Given the description of an element on the screen output the (x, y) to click on. 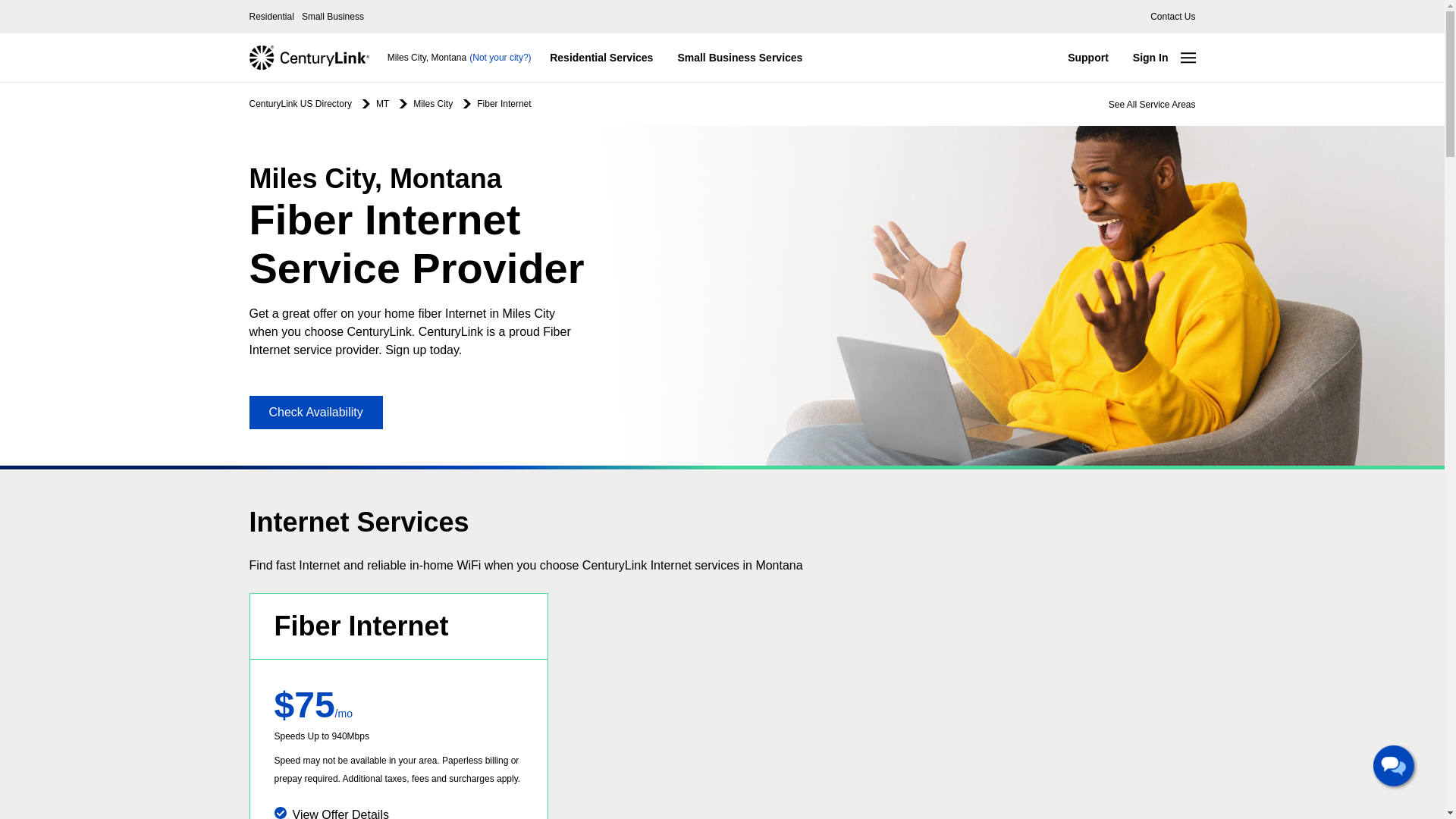
Small Business Services (739, 57)
Sign In (1150, 57)
Residential (271, 16)
Miles City (432, 103)
Residential Services (601, 57)
See All Service Areas (1151, 104)
Small Business (332, 16)
Check Availability (314, 412)
Contact Us (1172, 16)
Support (1088, 57)
MT (381, 103)
CenturyLink US Directory (299, 103)
